Given the description of an element on the screen output the (x, y) to click on. 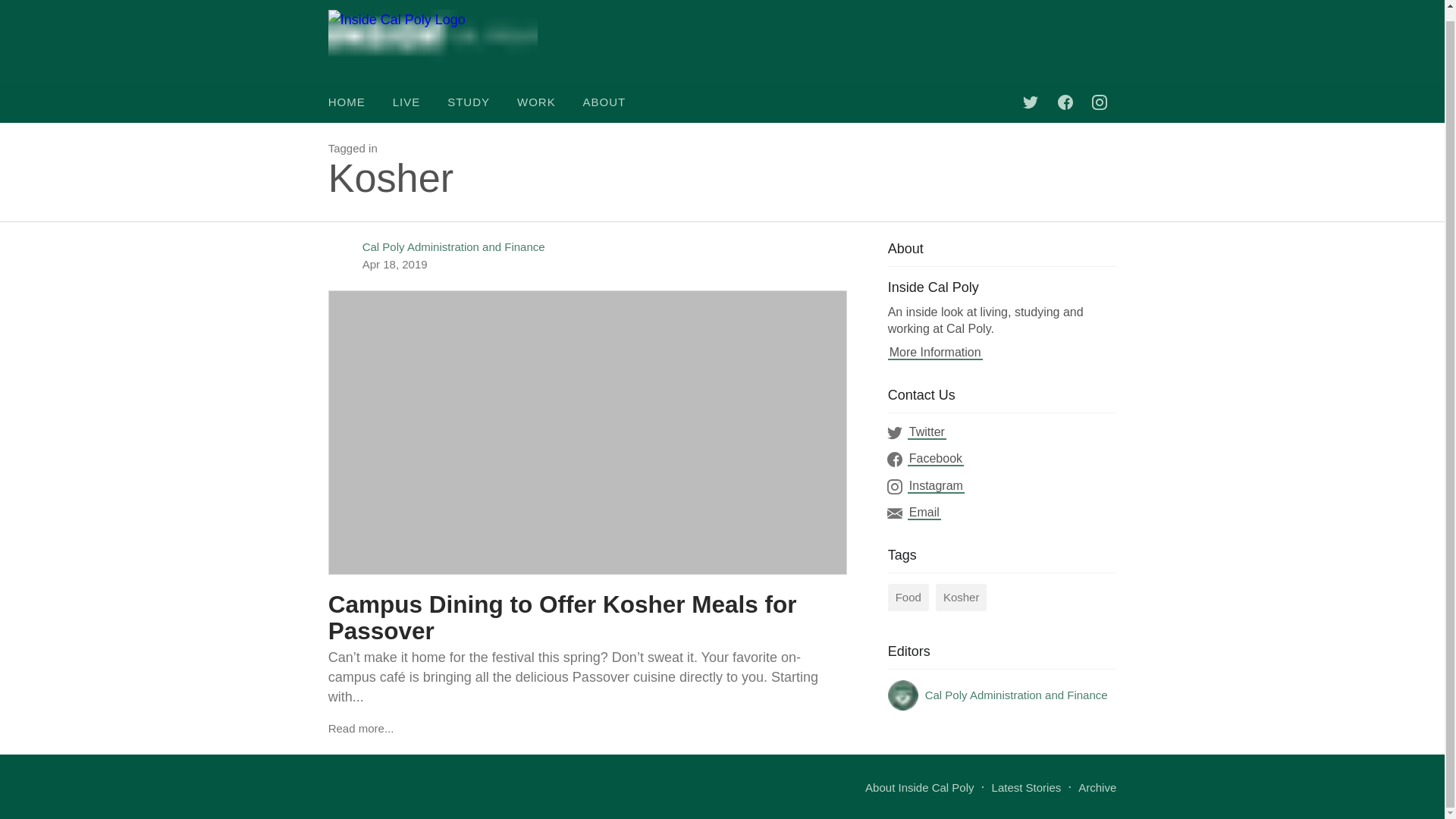
Email (923, 512)
Latest Stories (1026, 786)
Kosher (961, 596)
WORK (536, 101)
HOME (352, 102)
STUDY (468, 101)
Twitter (926, 432)
More Information (935, 352)
Facebook (935, 458)
ABOUT (604, 101)
